Given the description of an element on the screen output the (x, y) to click on. 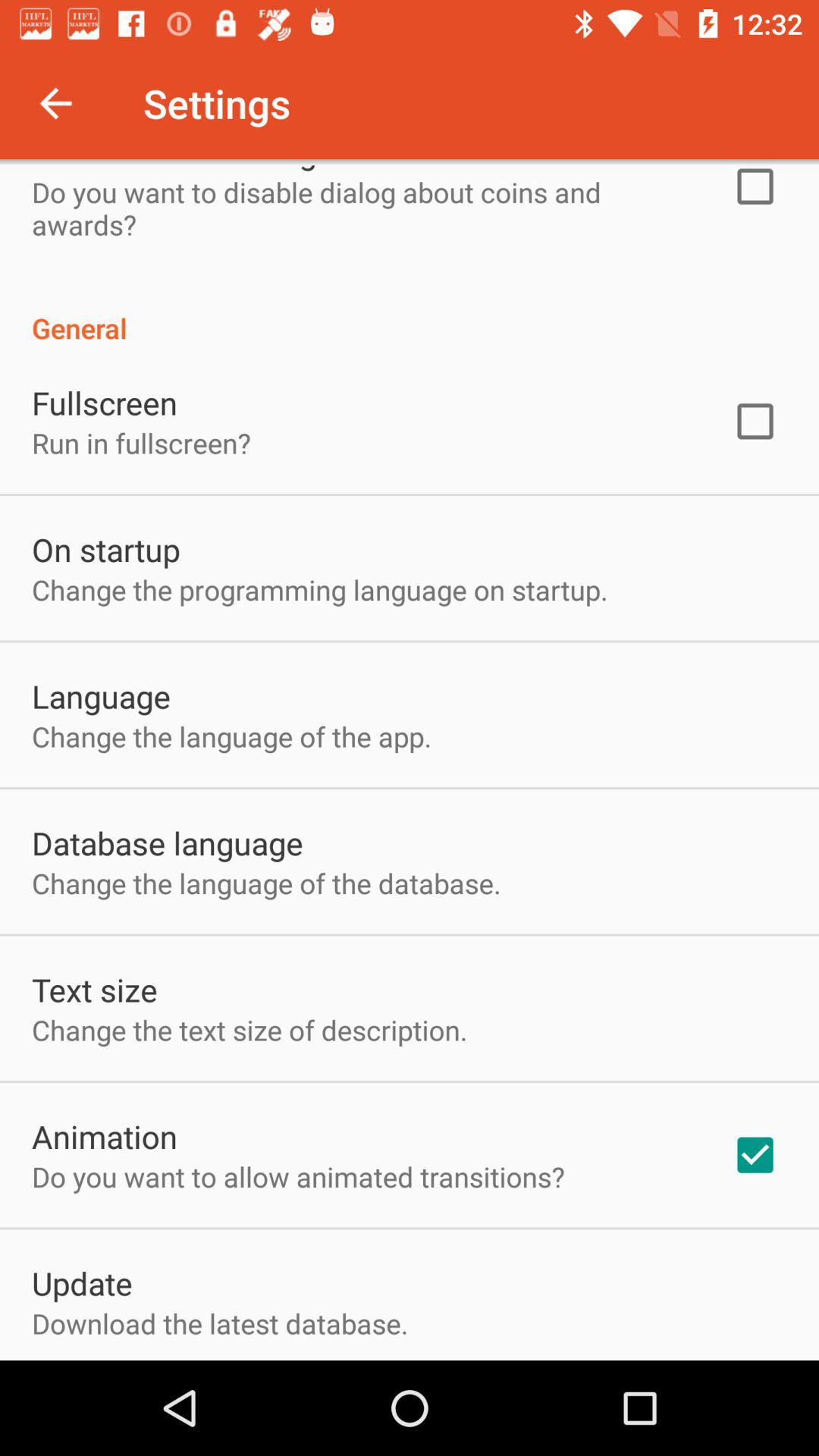
click the icon next to settings icon (55, 103)
